Given the description of an element on the screen output the (x, y) to click on. 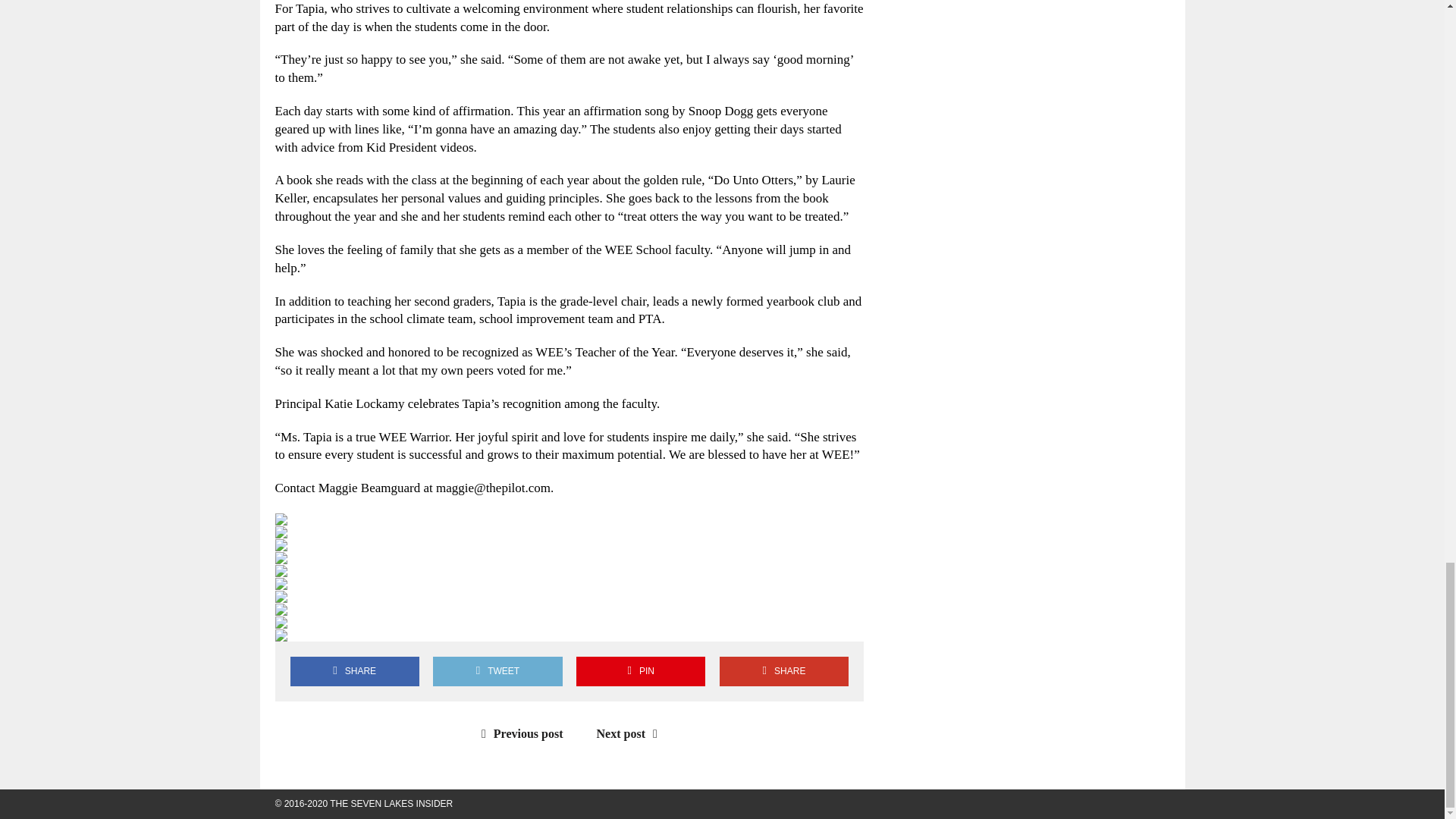
PIN (640, 671)
TWEET (497, 671)
Share on Facebook (354, 671)
Previous post (518, 733)
Pin This Post (640, 671)
Next post (630, 733)
Tweet This Post (497, 671)
SHARE (354, 671)
SHARE (783, 671)
